Given the description of an element on the screen output the (x, y) to click on. 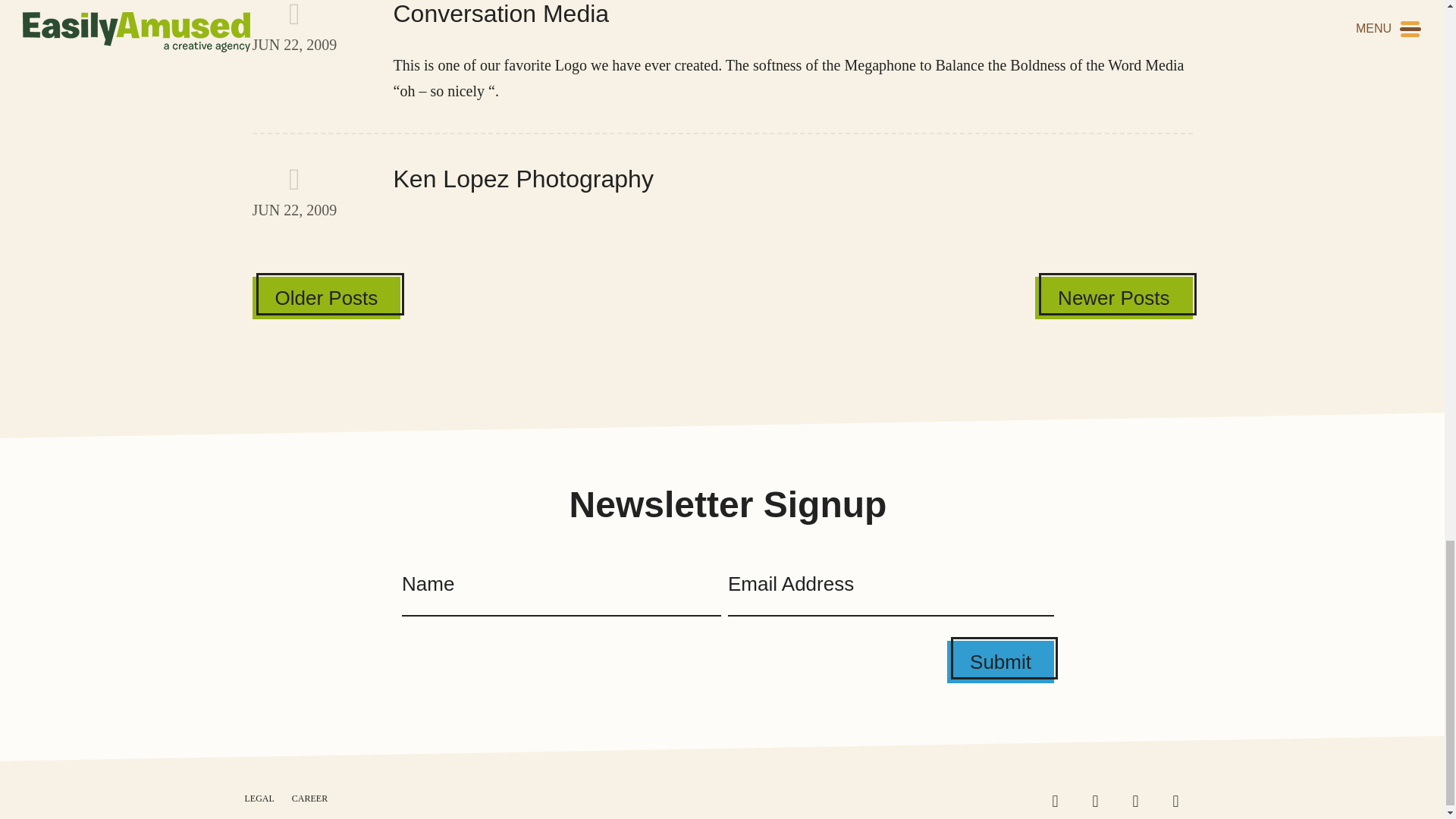
Newer Posts (1113, 297)
GitHub (721, 190)
Older Posts (1181, 801)
Dribbble (325, 297)
Facebook (1140, 801)
LEGAL (1060, 801)
Twitter (258, 798)
GitHub (1101, 801)
Dribbble (1181, 801)
